Given the description of an element on the screen output the (x, y) to click on. 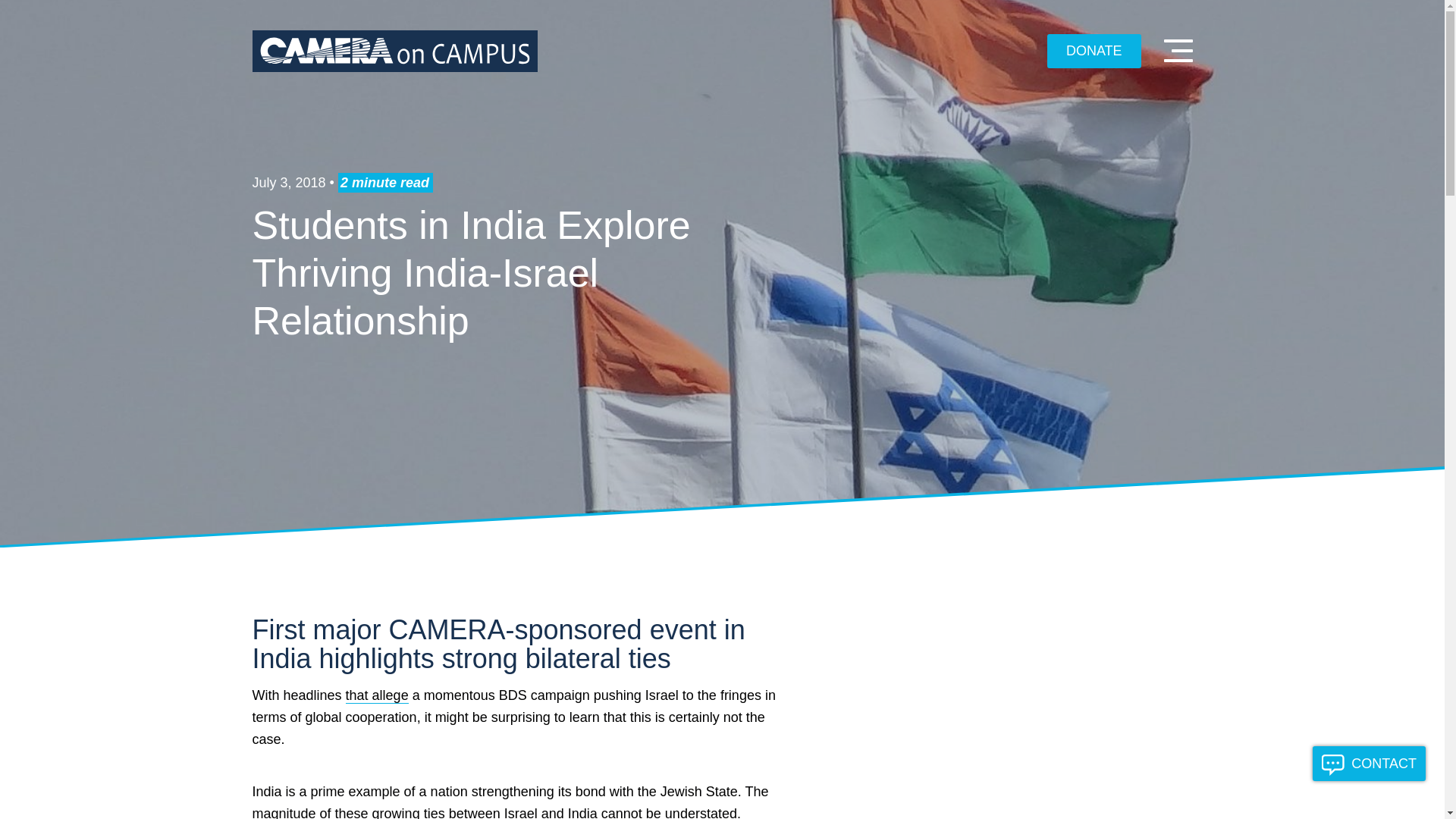
DONATE (1093, 51)
